Given the description of an element on the screen output the (x, y) to click on. 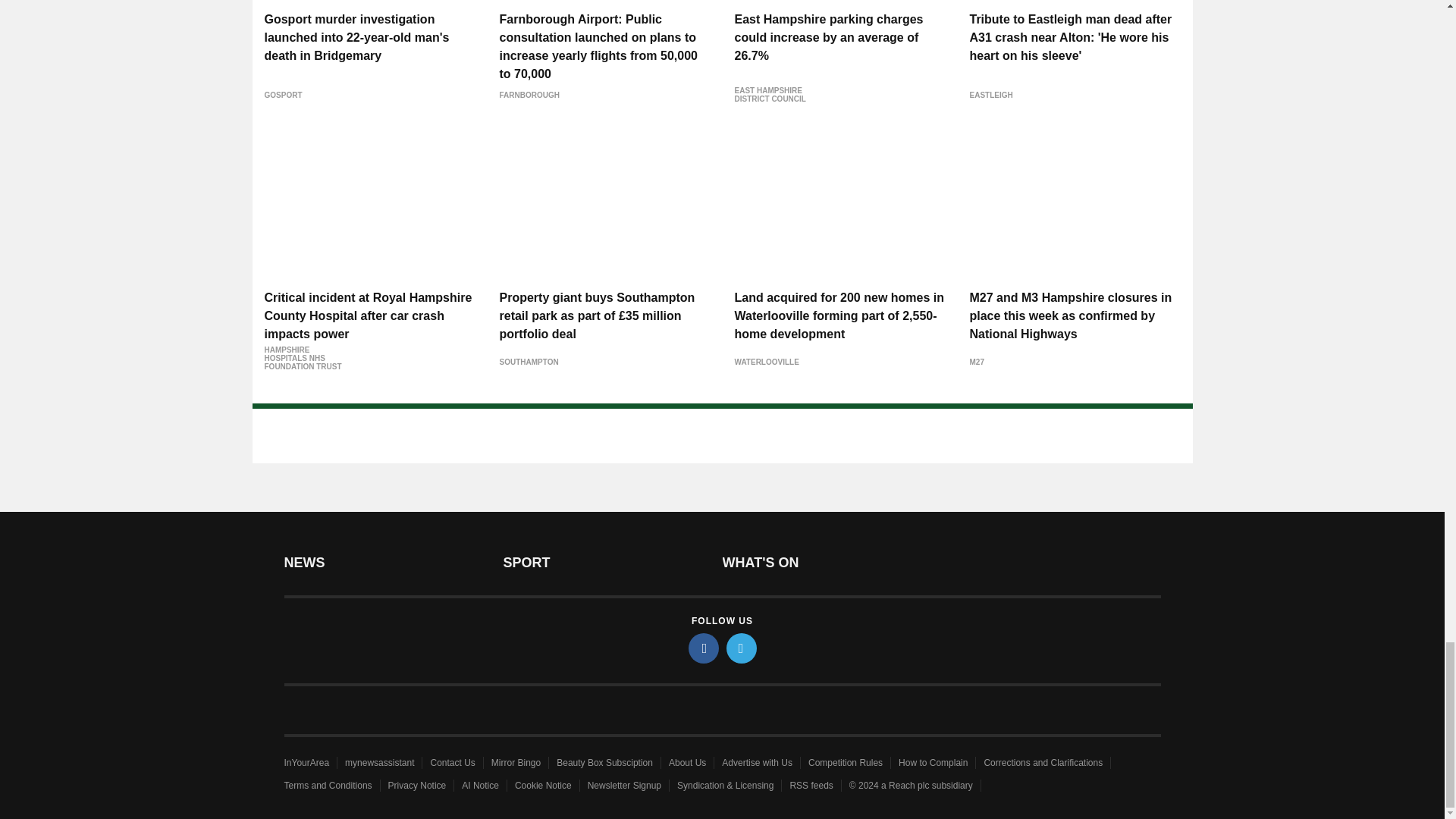
facebook (703, 648)
twitter (741, 648)
